Given the description of an element on the screen output the (x, y) to click on. 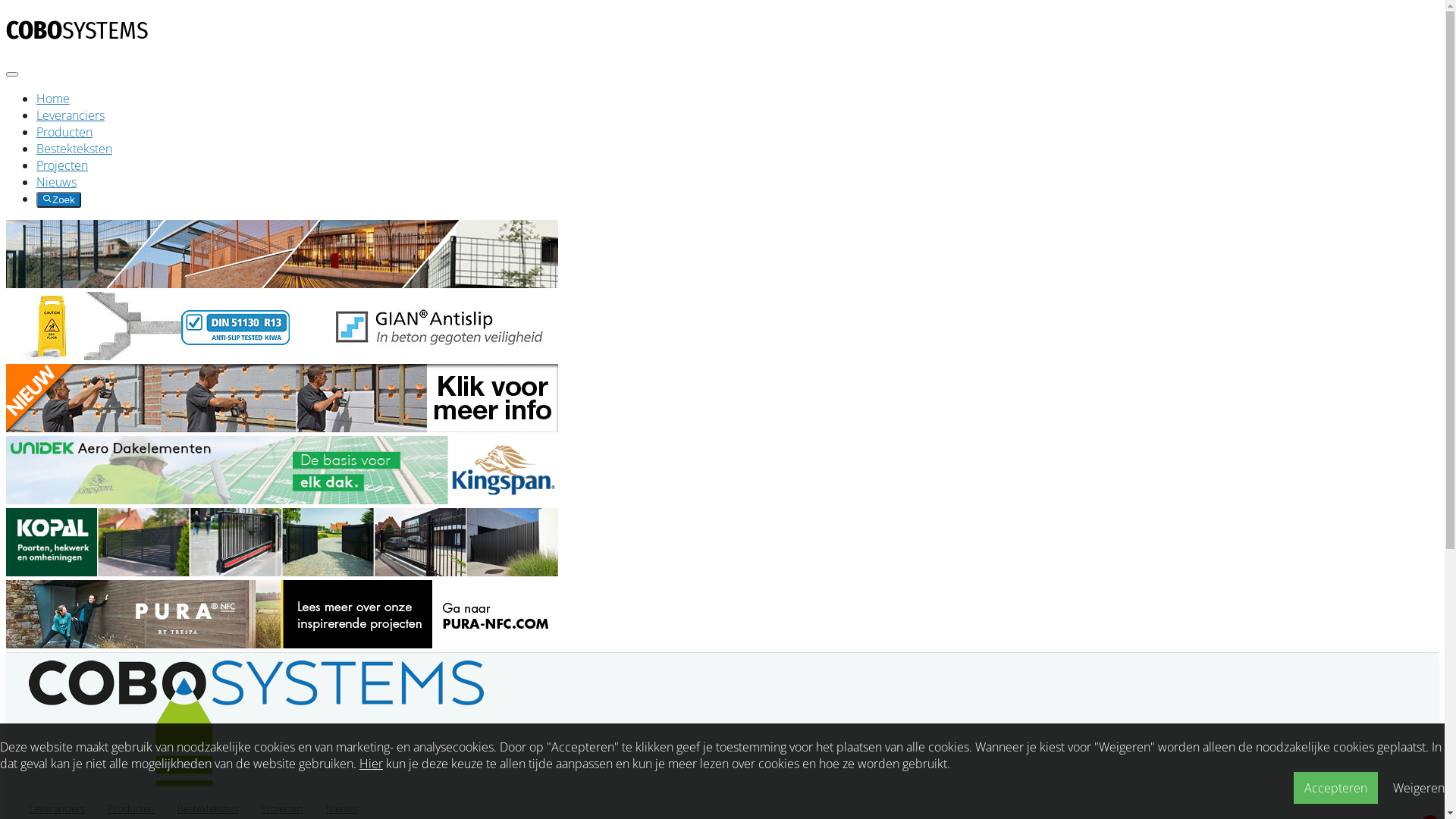
Producten Element type: text (64, 131)
Bestekteksten Element type: text (74, 148)
Accepteren Element type: text (1335, 787)
Hier Element type: text (370, 763)
Nieuws Element type: text (56, 181)
Zoek Element type: text (58, 199)
Weigeren Element type: text (1418, 787)
Projecten Element type: text (61, 164)
Home Element type: text (52, 98)
Leveranciers Element type: text (70, 114)
